Given the description of an element on the screen output the (x, y) to click on. 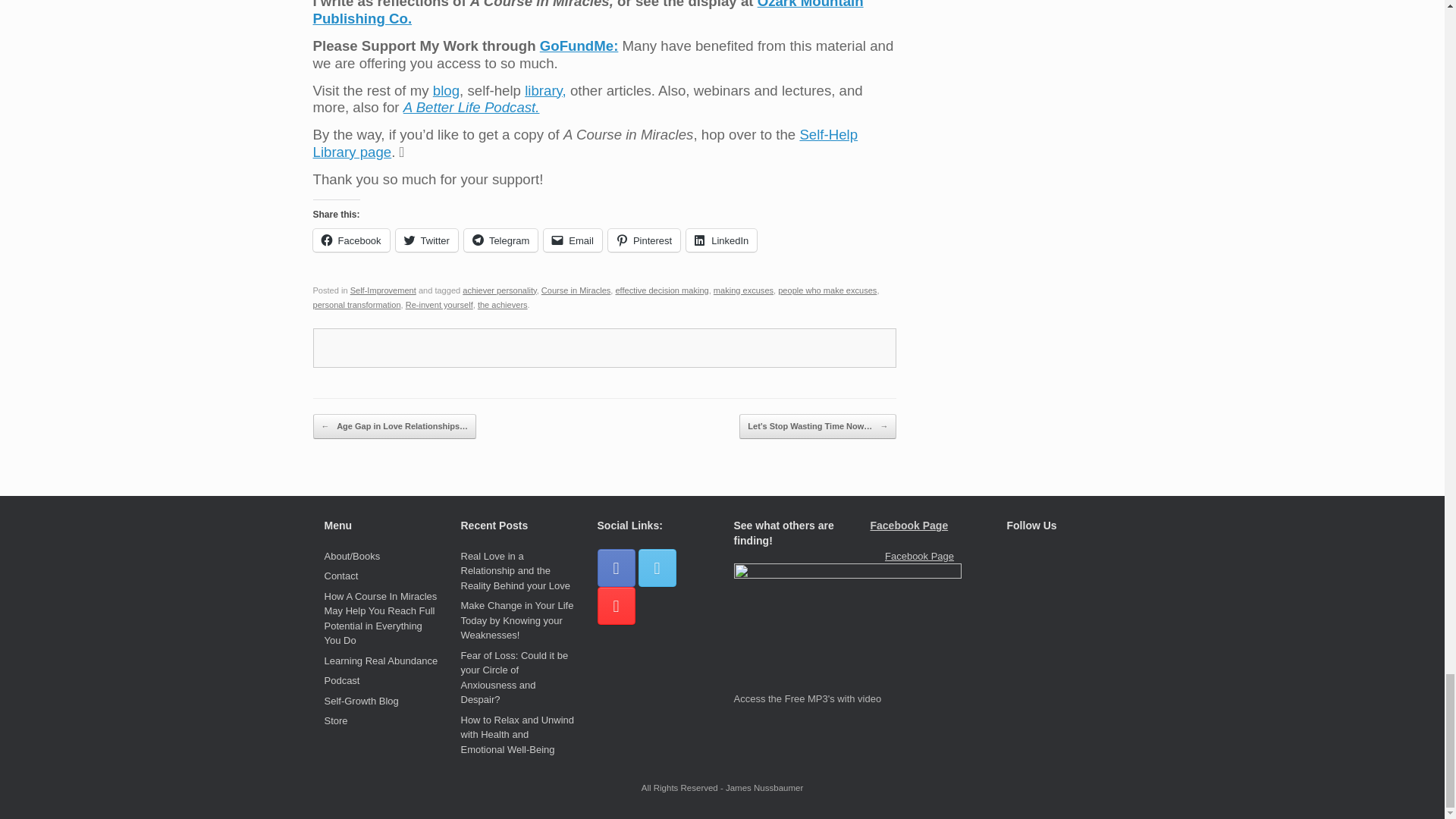
A Better Life Podcast. (471, 107)
Ozark Mountain Publishing Co. (588, 13)
Click to share on Twitter (427, 240)
GoFundMe: (579, 45)
blog (446, 90)
Click to share on Pinterest (643, 240)
Click to share on Telegram (500, 240)
Twitter (427, 240)
Self-Help Library page (585, 142)
Facebook (350, 240)
